Given the description of an element on the screen output the (x, y) to click on. 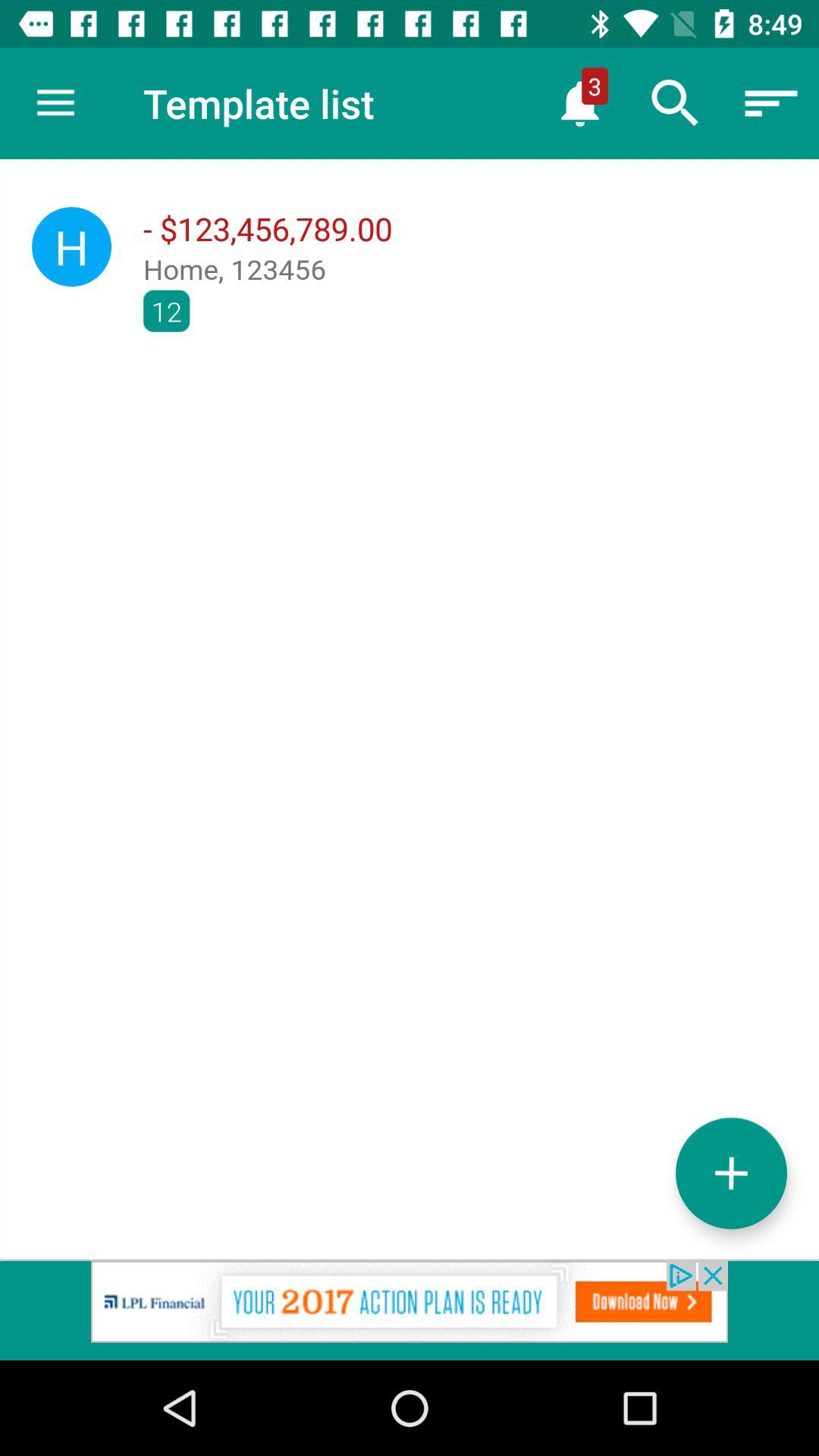
open advertisement (409, 1310)
